Given the description of an element on the screen output the (x, y) to click on. 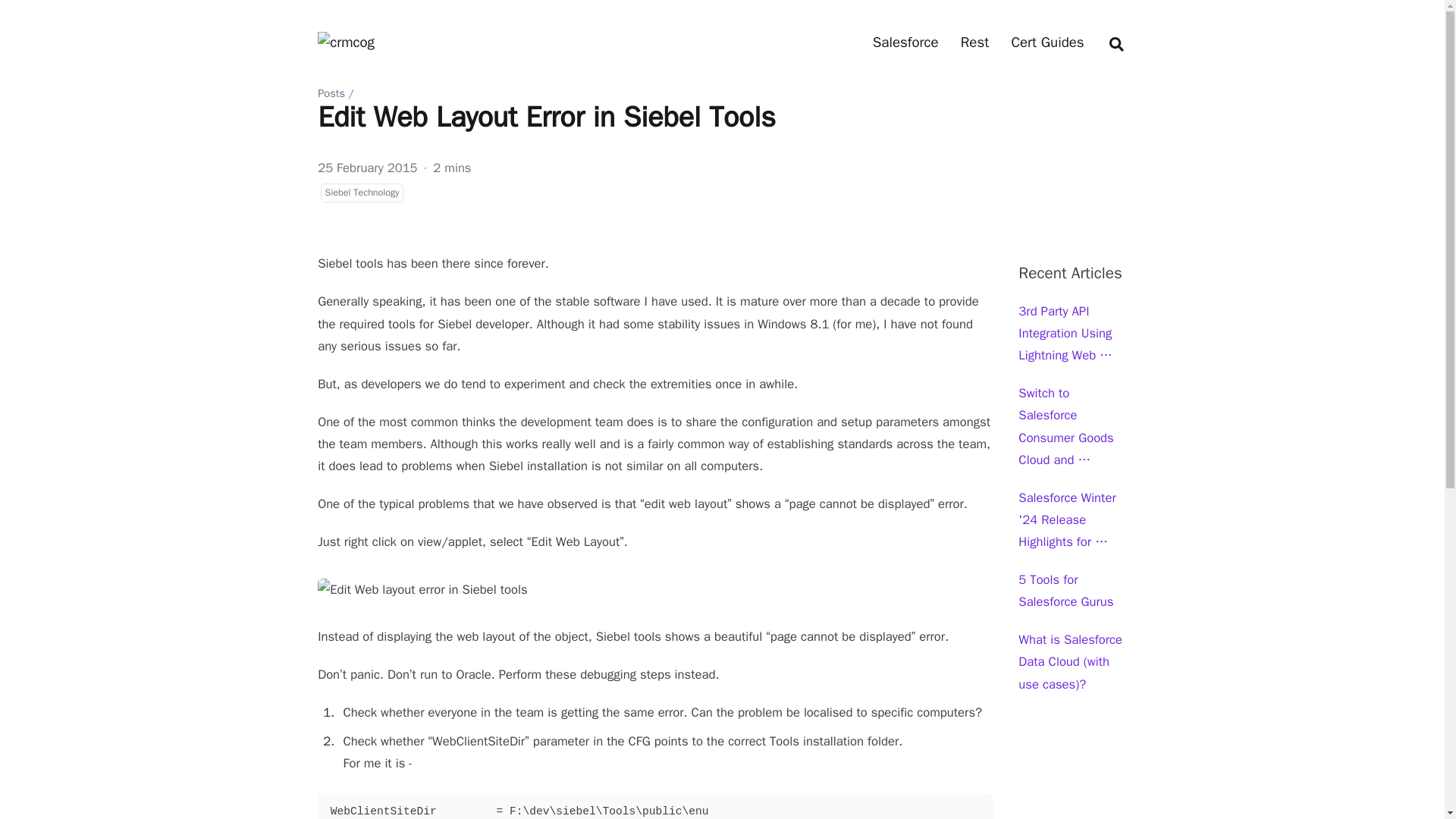
Siebel Technology (361, 192)
Salesforce.com (905, 42)
Posts (331, 92)
Salesforce (905, 42)
Posts (974, 42)
Reading time (451, 167)
Rest (974, 42)
